Given the description of an element on the screen output the (x, y) to click on. 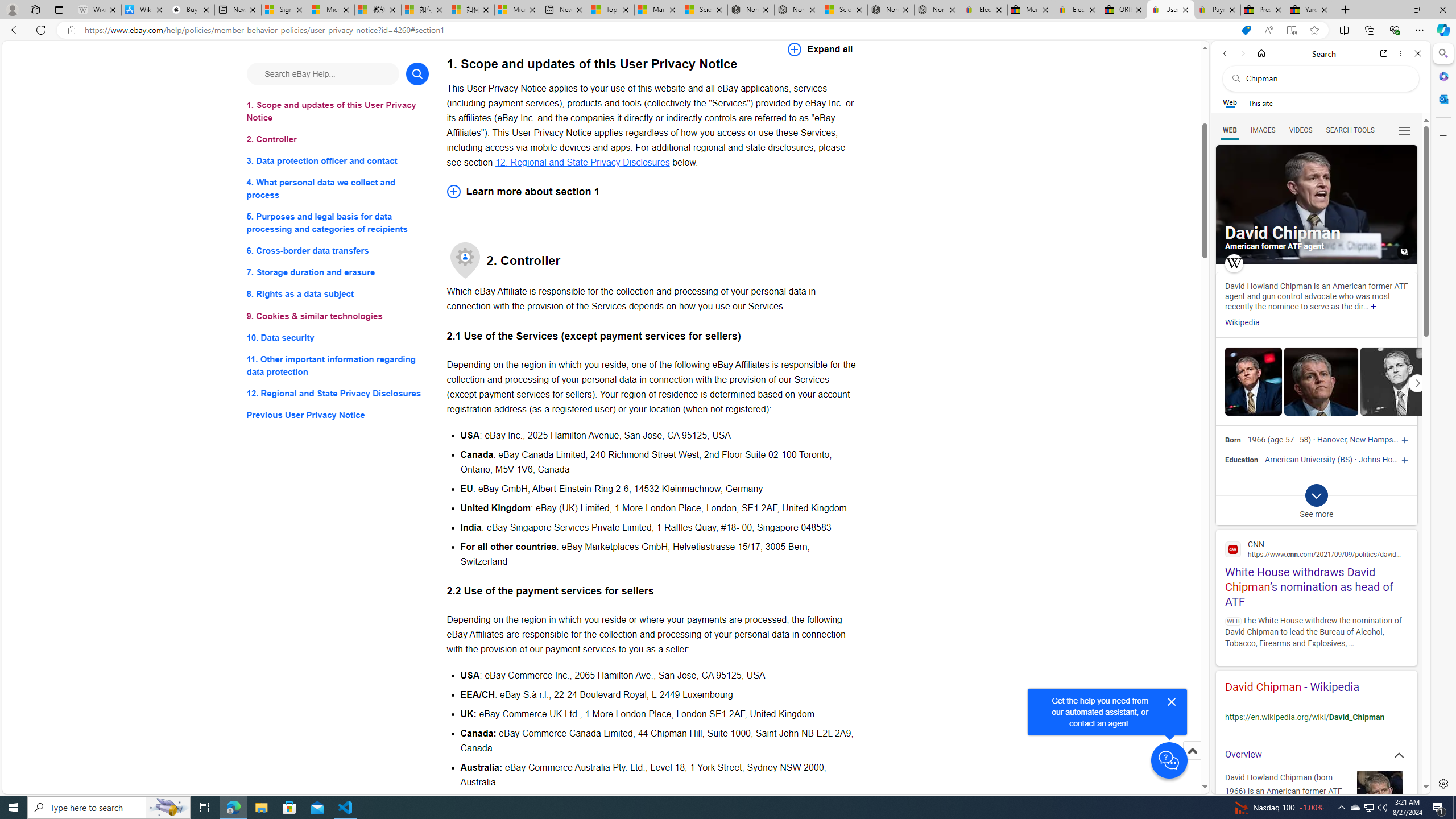
Web scope (1230, 102)
11. Other important information regarding data protection (337, 365)
Nordace - Summer Adventures 2024 (890, 9)
Previous User Privacy Notice (337, 414)
Show more (1373, 307)
12. Regional and State Privacy Disclosures (582, 162)
View details (1396, 381)
Learn more about section 1 (651, 191)
2. Controller (337, 138)
